Given the description of an element on the screen output the (x, y) to click on. 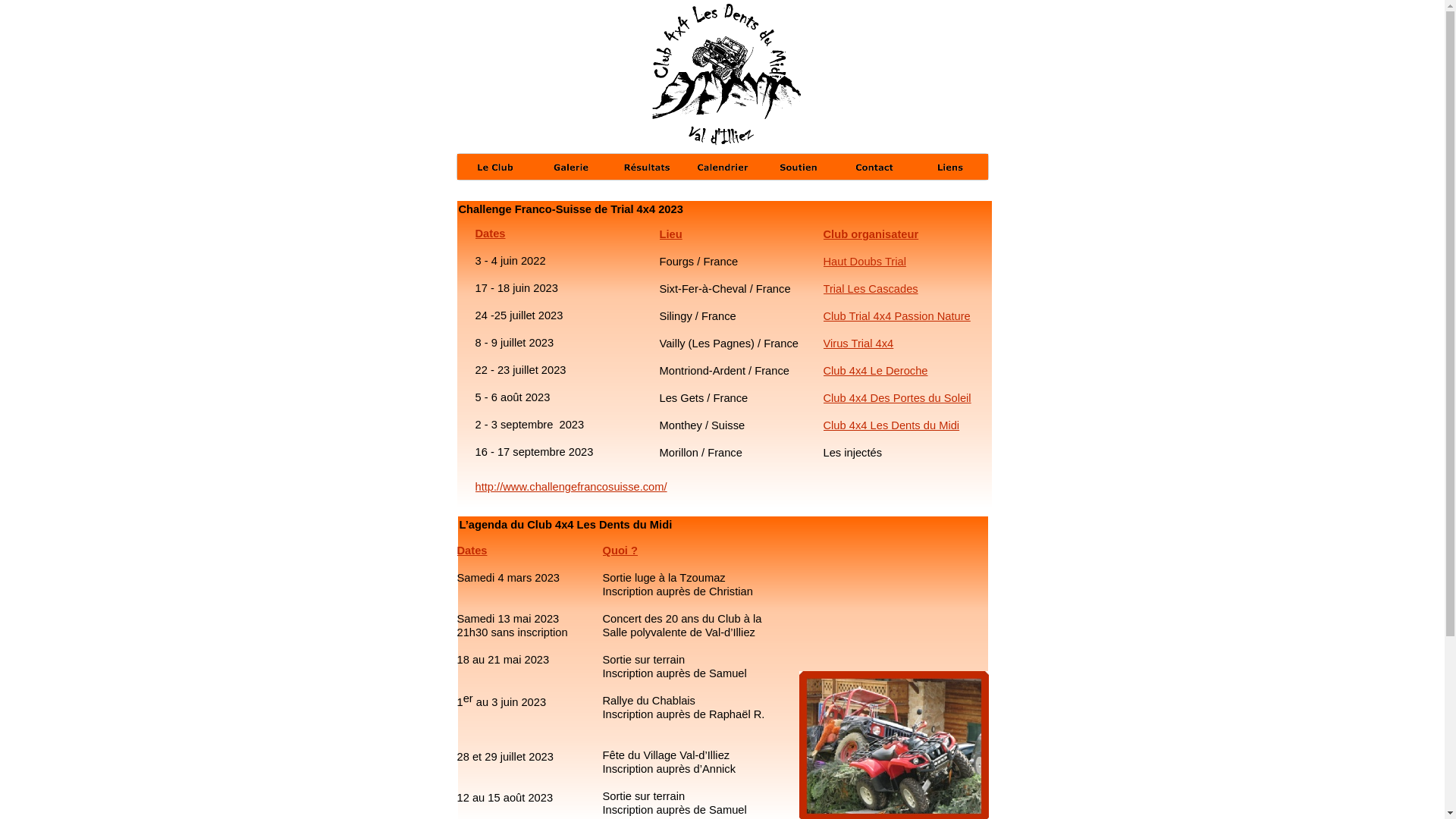
Club 4x4 Des Portes du Soleil Element type: text (897, 398)
Virus Trial 4x4 Element type: text (858, 343)
Club 4x4 Les Dents du Midi Element type: text (891, 425)
Club 4x4 Le Deroche Element type: text (875, 370)
http://www.challengefrancosuisse.com/ Element type: text (570, 486)
Trial Les Cascades Element type: text (870, 288)
Club Trial 4x4 Passion Nature Element type: text (896, 316)
Haut Doubs Trial Element type: text (864, 261)
